Given the description of an element on the screen output the (x, y) to click on. 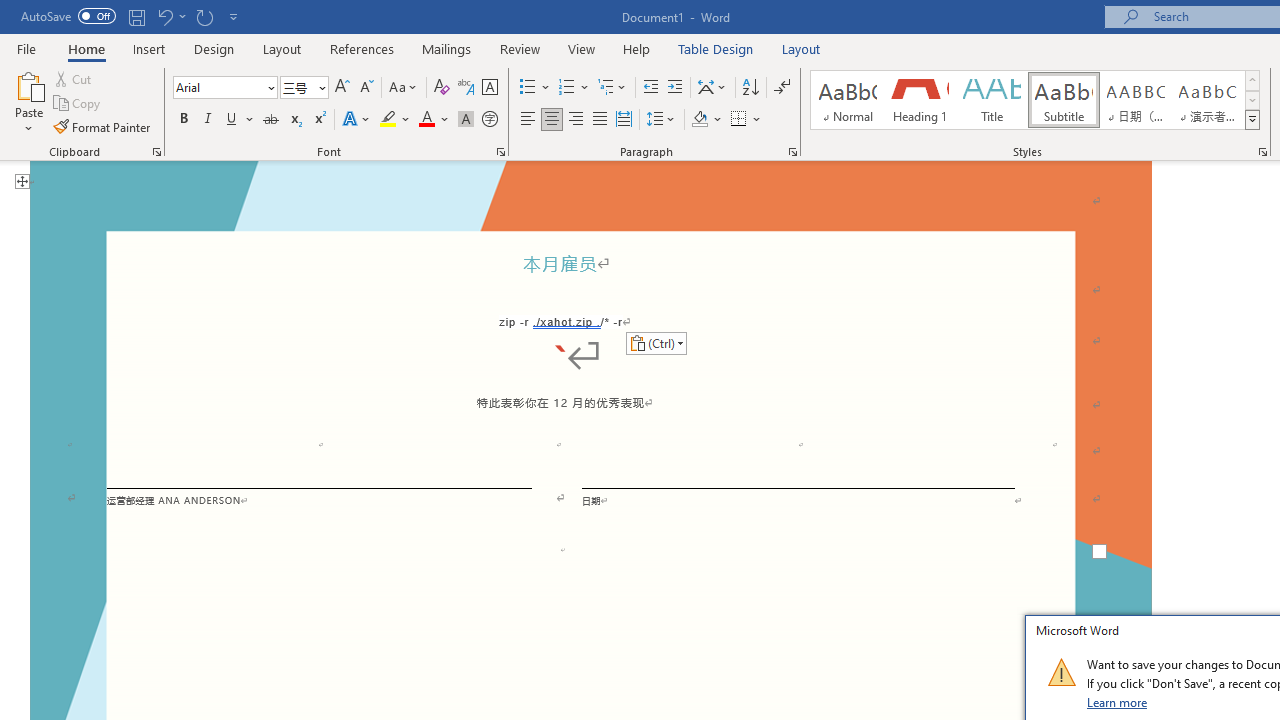
Font Color Red (426, 119)
Learn more (1118, 702)
